Given the description of an element on the screen output the (x, y) to click on. 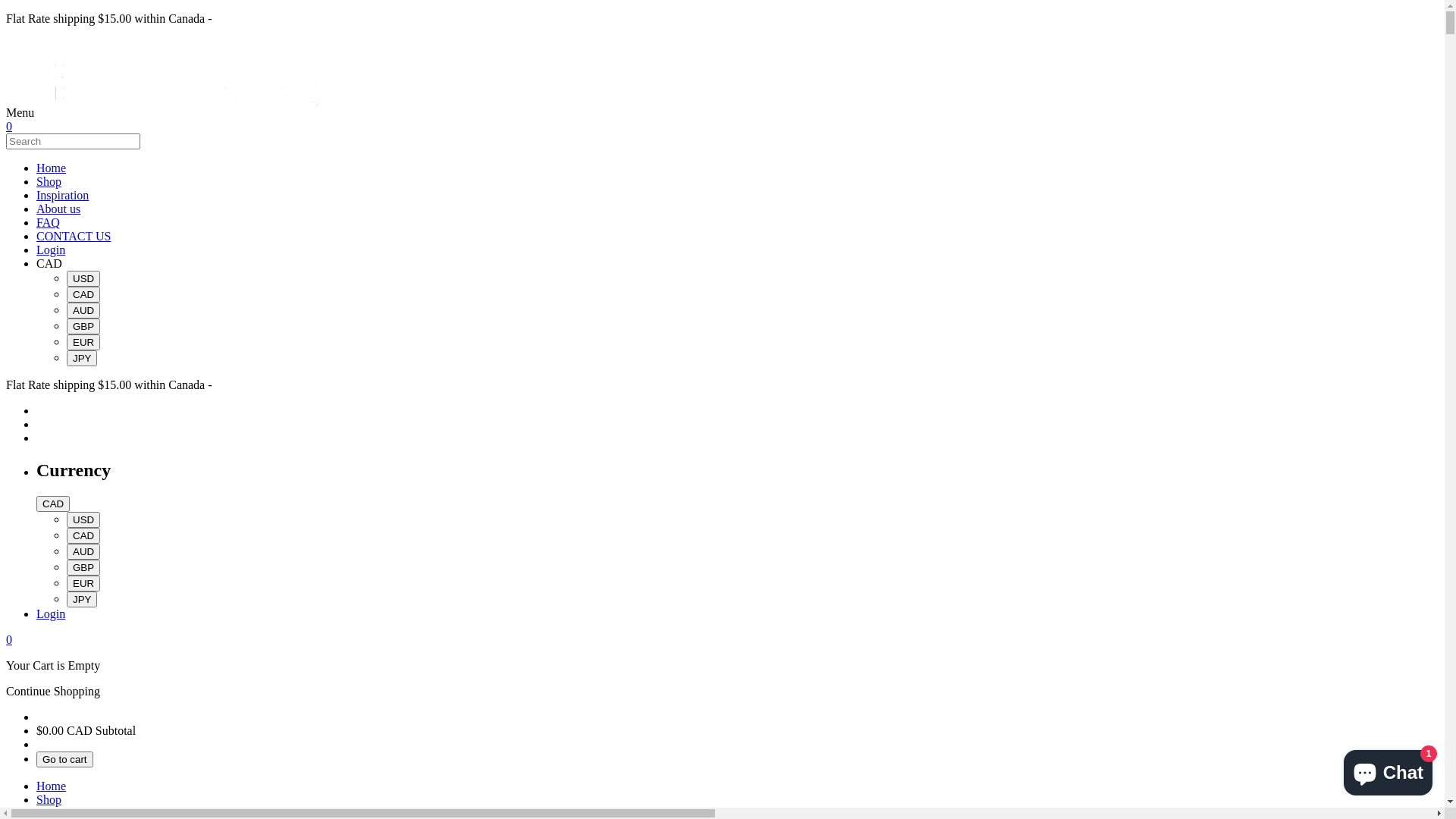
Shop Element type: text (48, 181)
CAD Element type: text (83, 294)
Login Element type: text (50, 613)
Block Prints Element type: hover (192, 112)
USD Element type: text (83, 519)
GBP Element type: text (83, 567)
USD Element type: text (83, 278)
0 Element type: text (9, 125)
AUD Element type: text (83, 310)
JPY Element type: text (81, 599)
CAD Element type: text (83, 535)
About us Element type: text (58, 208)
AUD Element type: text (83, 551)
Home Element type: text (50, 167)
JPY Element type: text (81, 358)
FAQ Element type: text (47, 222)
Inspiration Element type: text (62, 194)
Shopify online store chat Element type: hover (1388, 769)
CAD Element type: text (52, 503)
Continue Shopping Element type: text (53, 690)
Menu Element type: text (722, 146)
0 Element type: text (9, 639)
CONTACT US Element type: text (73, 235)
Home Element type: text (50, 785)
Login Element type: text (50, 249)
Shop Element type: text (48, 799)
EUR Element type: text (83, 583)
CAD Element type: text (49, 263)
Go to cart Element type: text (64, 759)
GBP Element type: text (83, 326)
EUR Element type: text (83, 342)
